Given the description of an element on the screen output the (x, y) to click on. 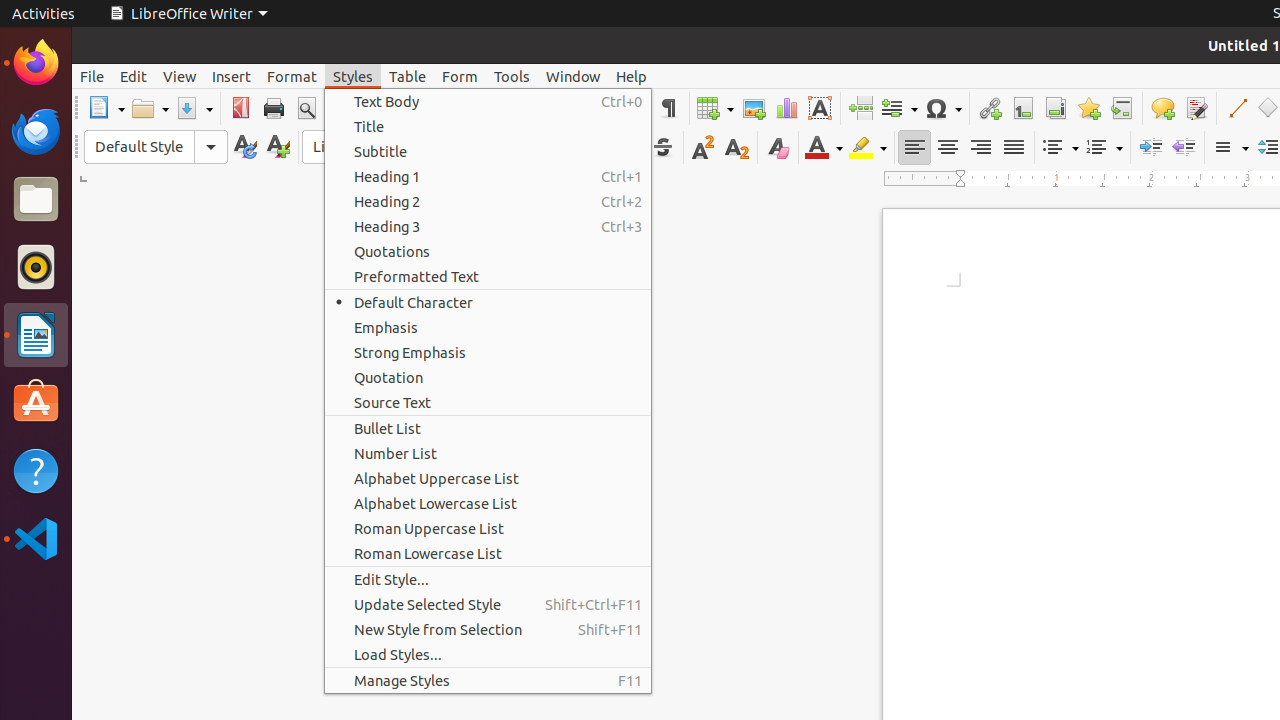
Update Selected Style Element type: menu-item (488, 604)
Left Element type: toggle-button (914, 147)
Heading 3 Element type: radio-menu-item (488, 226)
Chart Element type: push-button (786, 108)
Title Element type: radio-menu-item (488, 126)
